Given the description of an element on the screen output the (x, y) to click on. 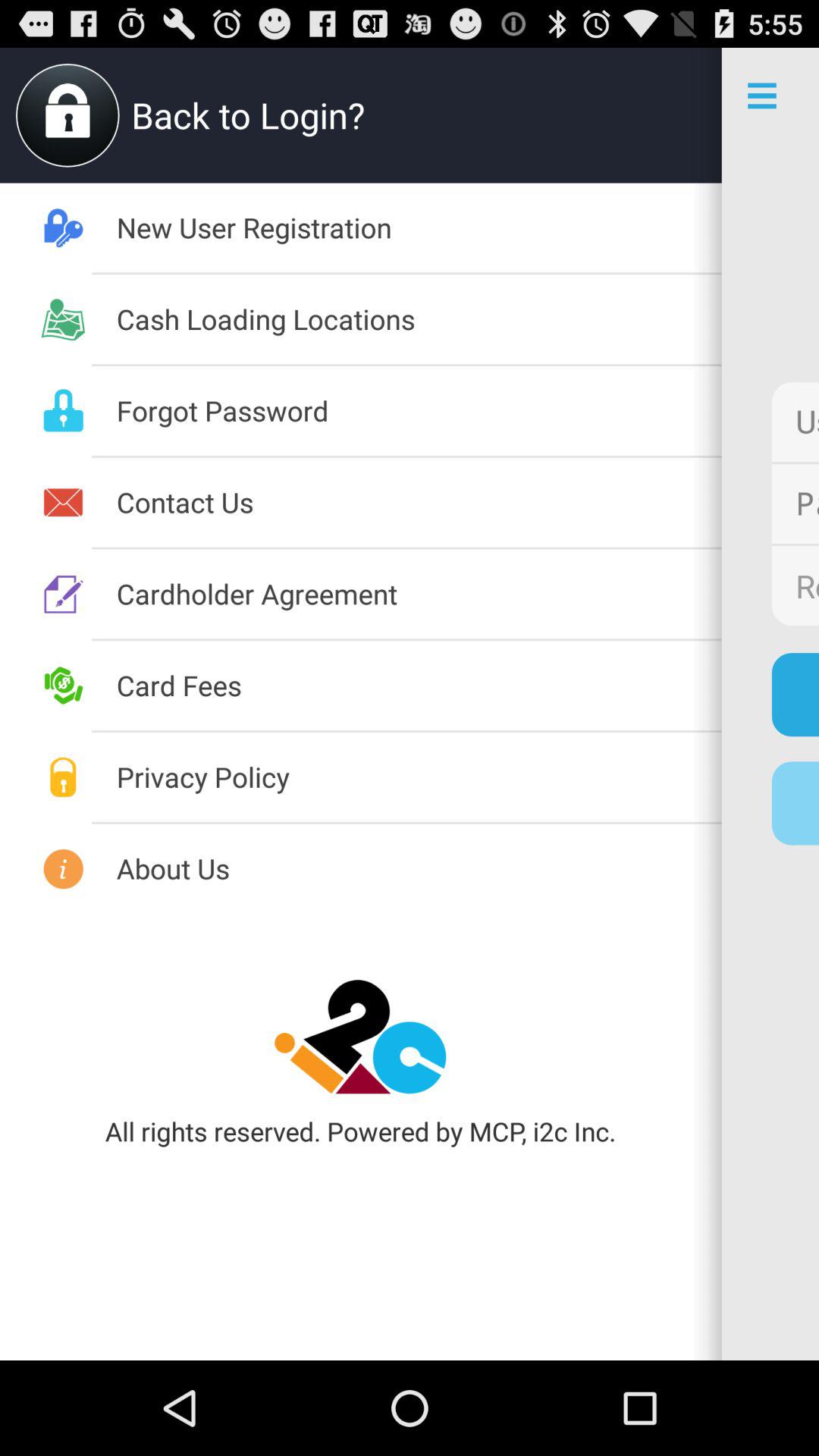
tap all rights reserved app (360, 1130)
